Given the description of an element on the screen output the (x, y) to click on. 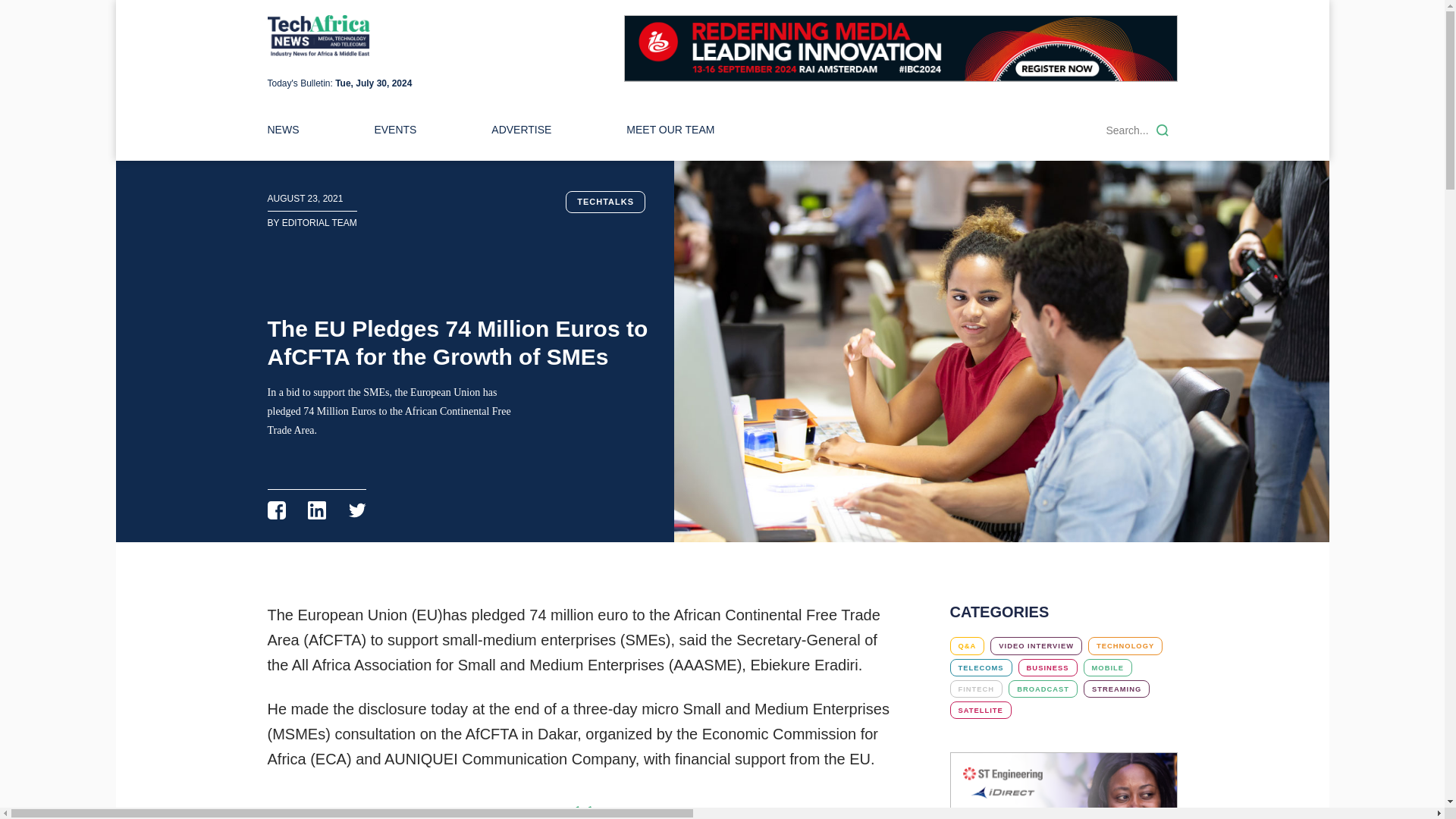
SATELLITE (979, 710)
TELECOMS (980, 667)
BROADCAST (1043, 688)
Search (1162, 130)
STREAMING (1116, 688)
TECHNOLOGY (1124, 645)
ADVERTISE (521, 129)
Search (1162, 130)
ADVERTISE (521, 129)
FINTECH (976, 688)
MEET OUR TEAM (670, 129)
VIDEO INTERVIEW (1035, 645)
MEET OUR TEAM (670, 129)
MOBILE (1107, 667)
BUSINESS (1047, 667)
